Given the description of an element on the screen output the (x, y) to click on. 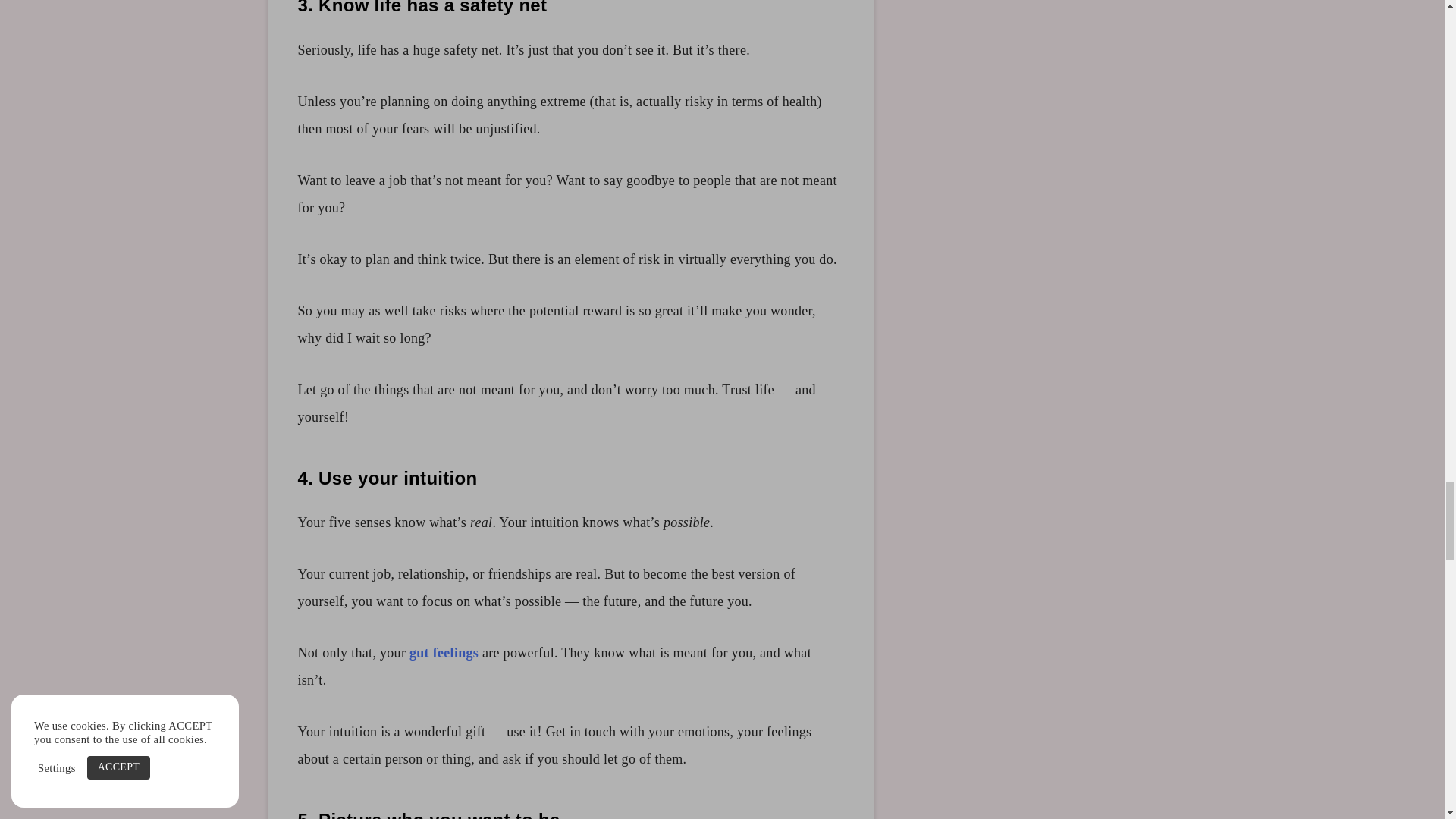
gut feelings (444, 652)
